Given the description of an element on the screen output the (x, y) to click on. 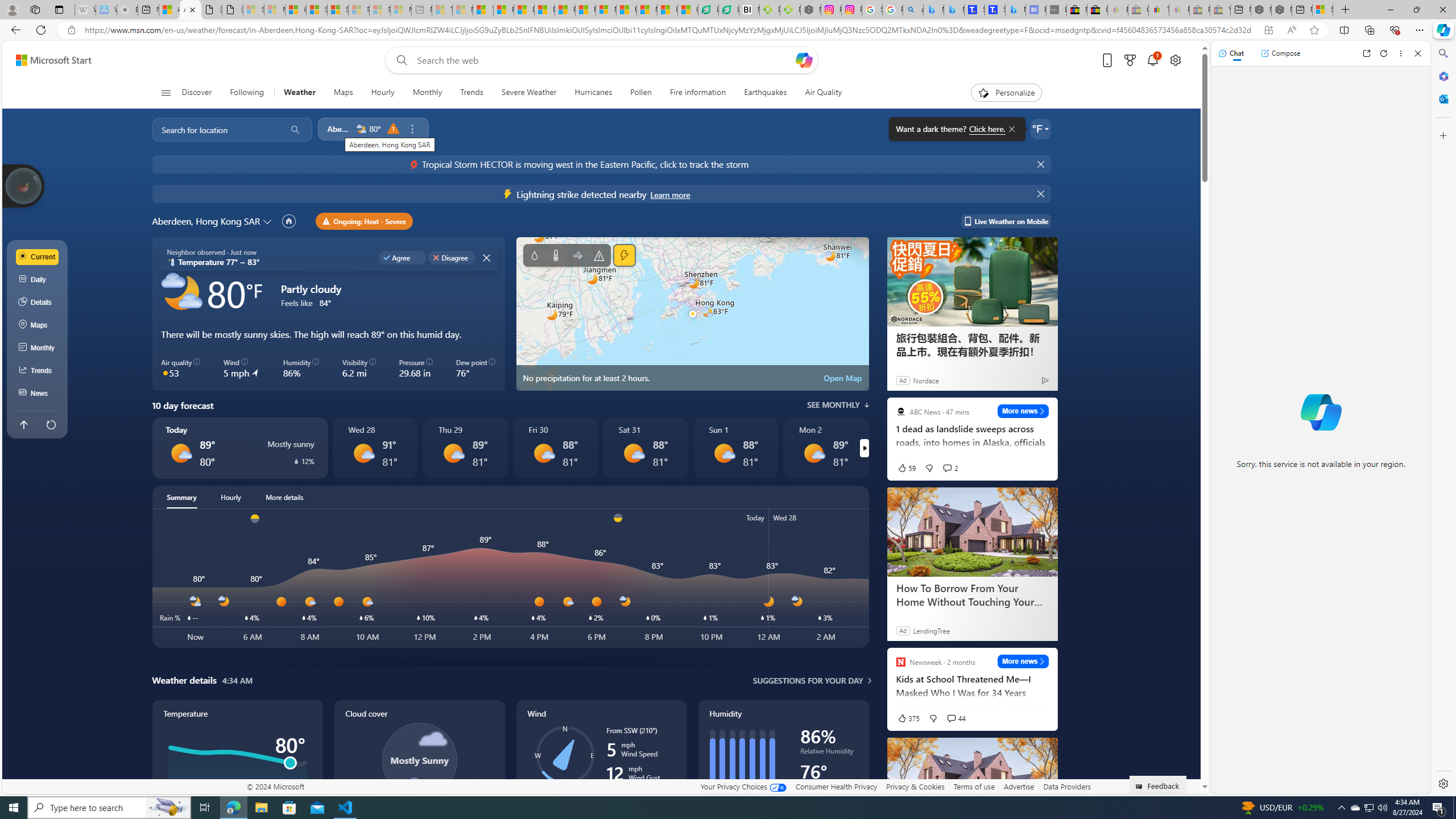
Nordace - Nordace Edin Collection (809, 9)
Microsoft Services Agreement - Sleeping (274, 9)
Join us in planting real trees to help our planet! (23, 185)
Fire information (697, 92)
Weather settings Want a dark theme?Click here. (1040, 128)
Chat (1231, 52)
Maps (37, 325)
How To Borrow From Your Home Without Touching Your Mortgage (971, 594)
